Given the description of an element on the screen output the (x, y) to click on. 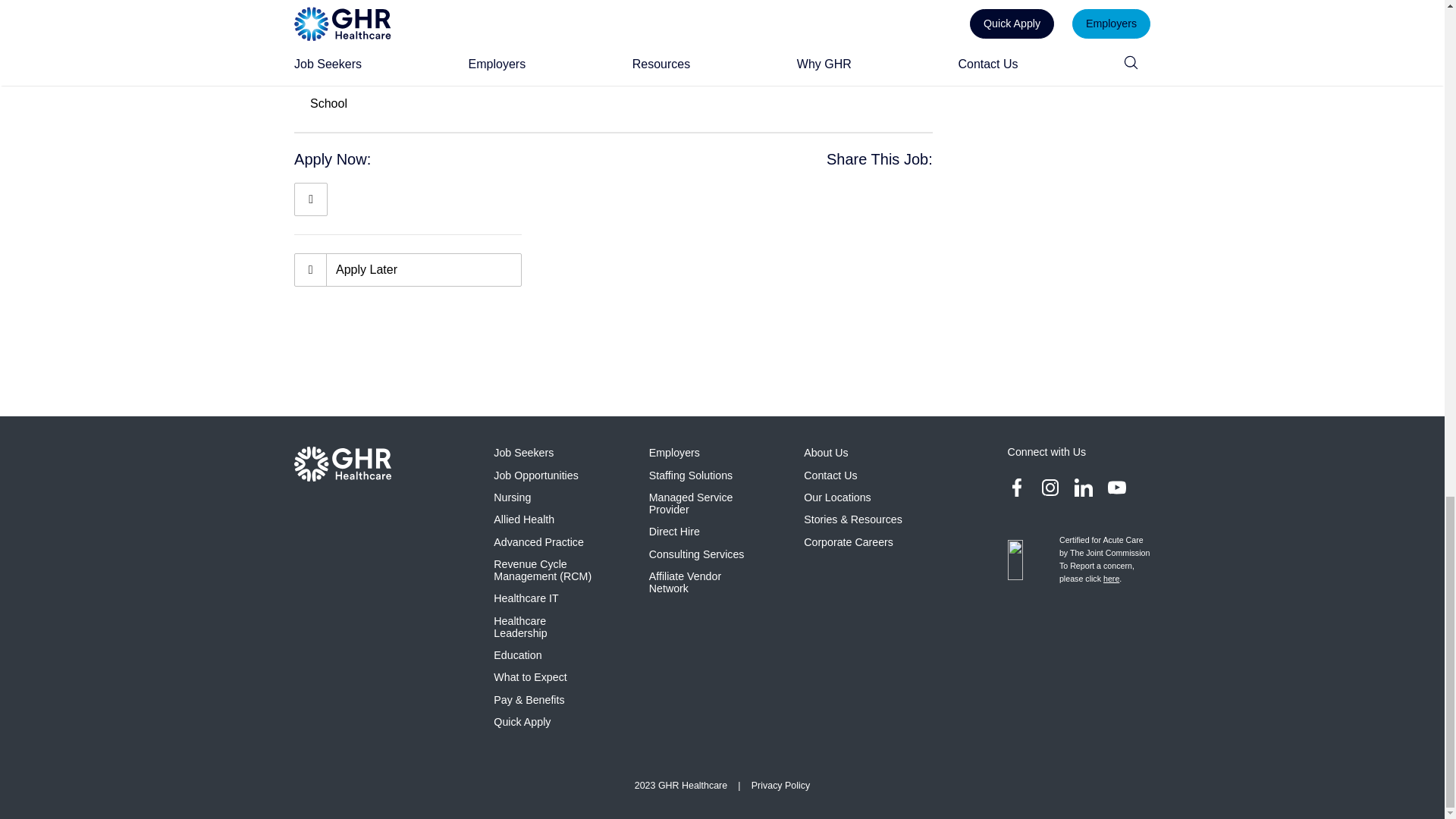
Apply Online (310, 199)
